Given the description of an element on the screen output the (x, y) to click on. 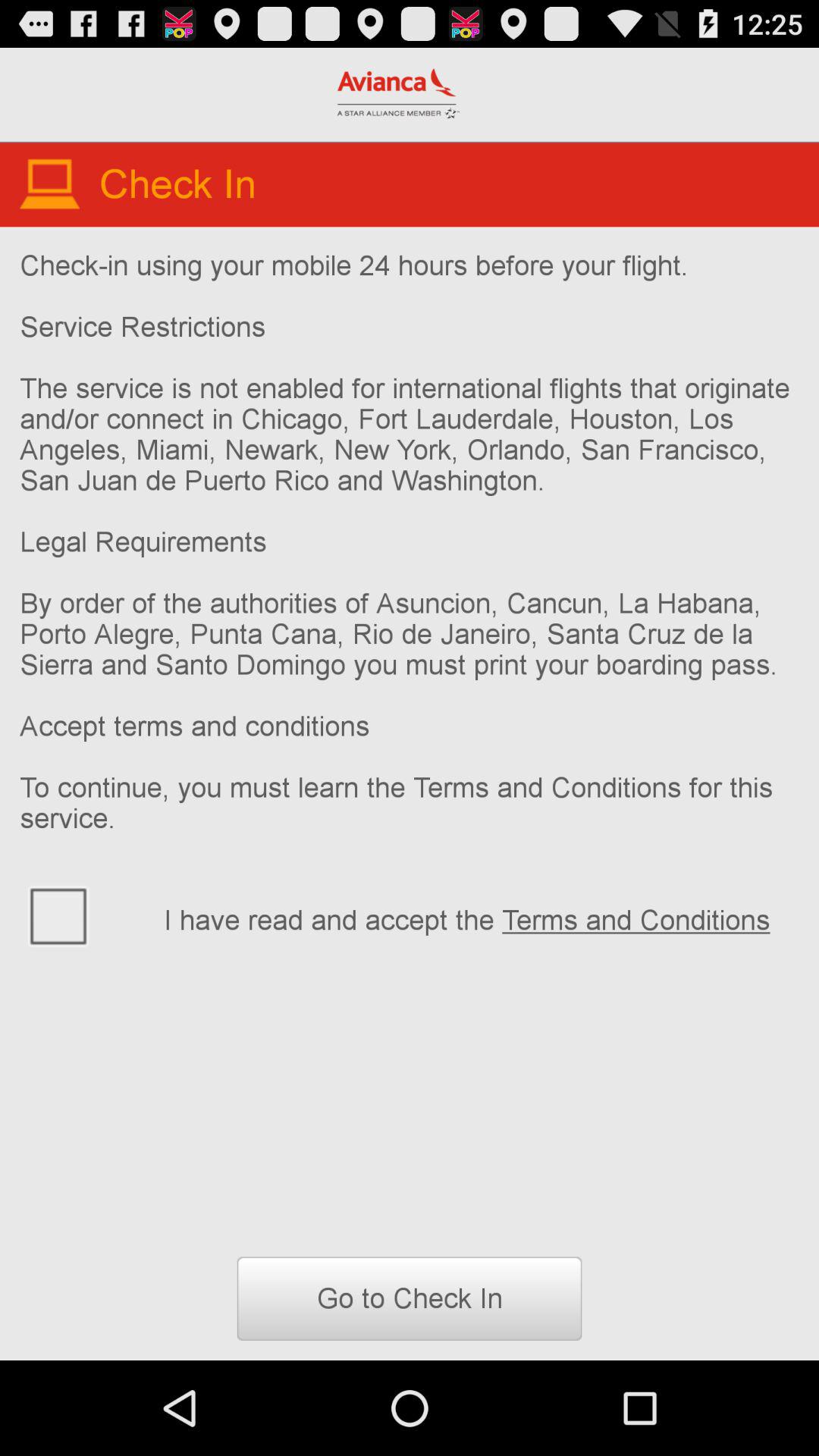
click the app next to the i have read (81, 914)
